Given the description of an element on the screen output the (x, y) to click on. 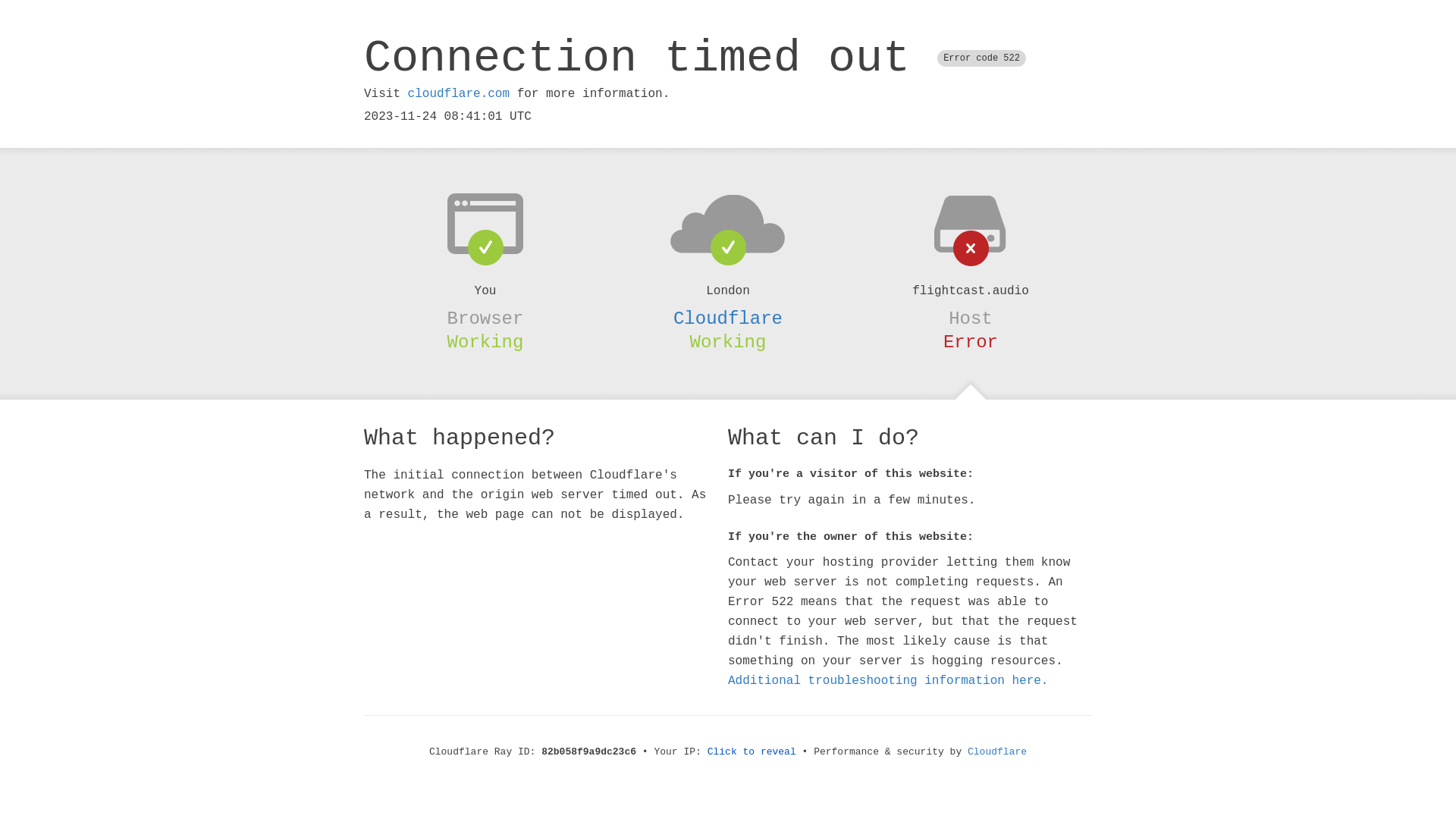
Cloudflare Element type: text (727, 318)
Click to reveal Element type: text (751, 751)
cloudflare.com Element type: text (458, 93)
Cloudflare Element type: text (996, 751)
Additional troubleshooting information here. Element type: text (888, 680)
